Given the description of an element on the screen output the (x, y) to click on. 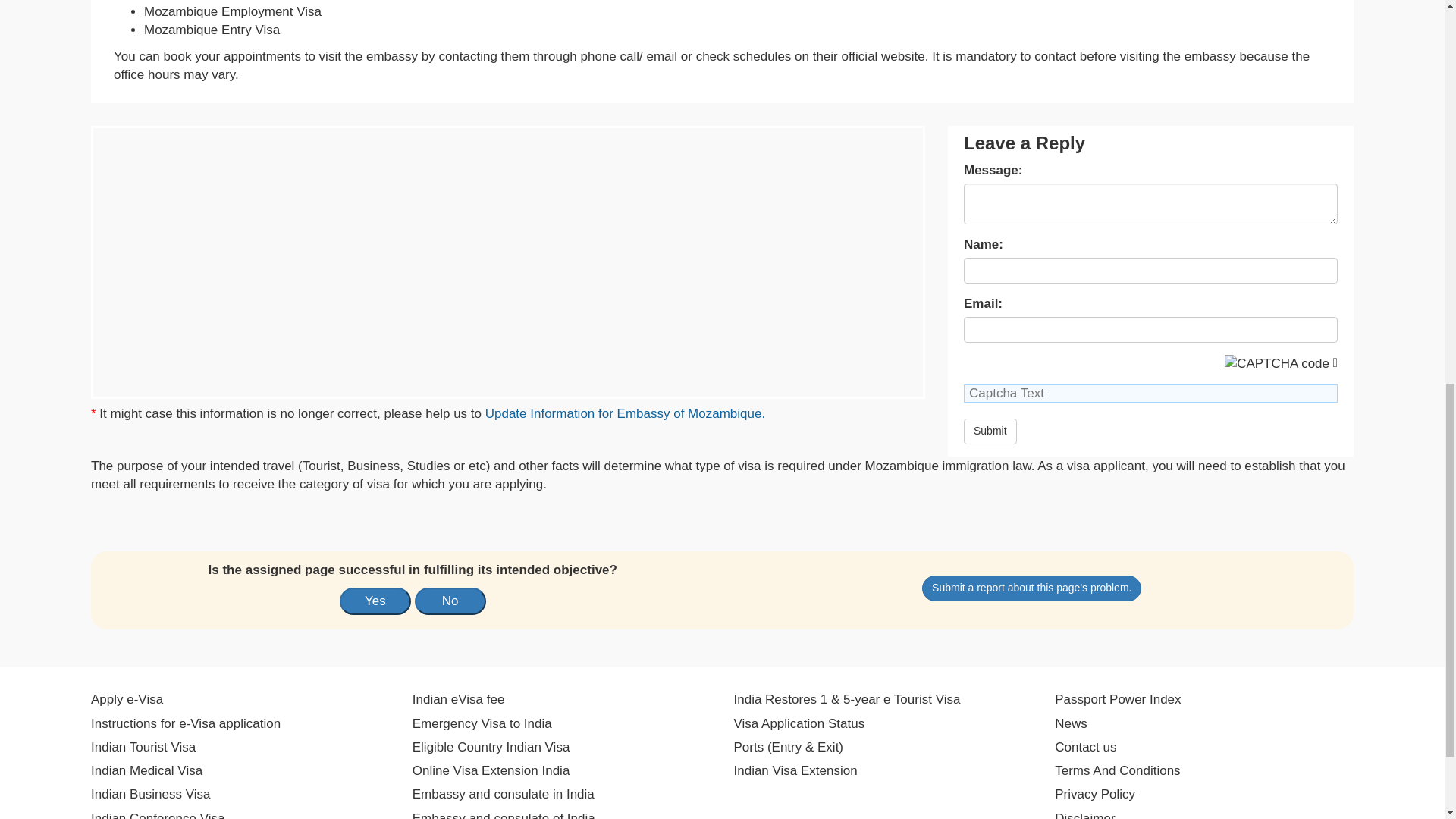
Online Visa Extension India (491, 771)
Apply e-Visa (126, 700)
Emergency Visa to India (481, 723)
Emergency Visa to India (481, 723)
Indian Business Visa (150, 794)
Indian eVisa fee (458, 700)
Indian Tourist Visa (142, 747)
Embassy and consulate in India (503, 794)
 Instructions for e-Visa application (185, 723)
Update Information for Embassy of Mozambique. (624, 413)
